Given the description of an element on the screen output the (x, y) to click on. 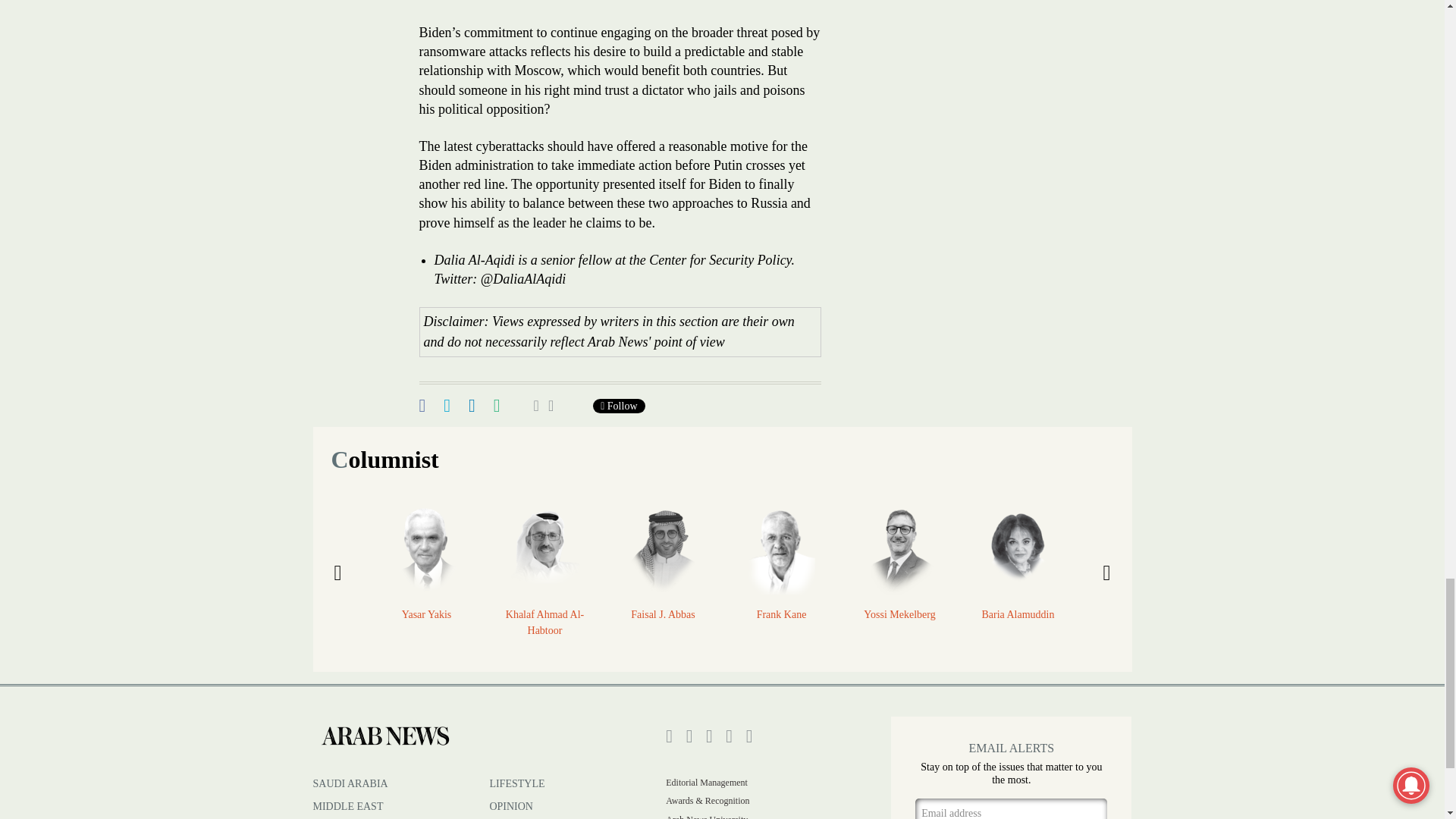
Arabnews (385, 735)
